Given the description of an element on the screen output the (x, y) to click on. 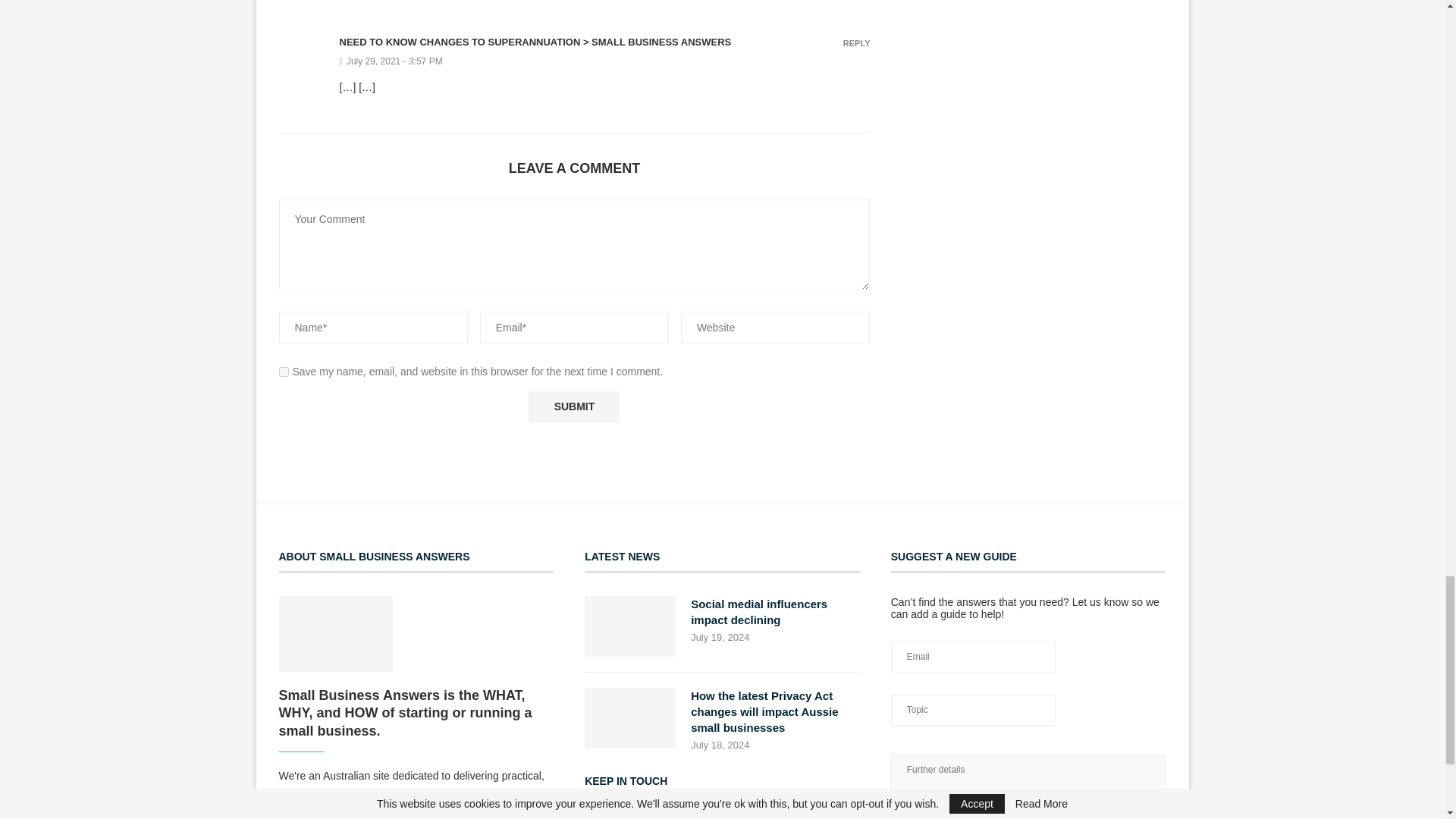
yes (283, 371)
Submit (574, 406)
